Given the description of an element on the screen output the (x, y) to click on. 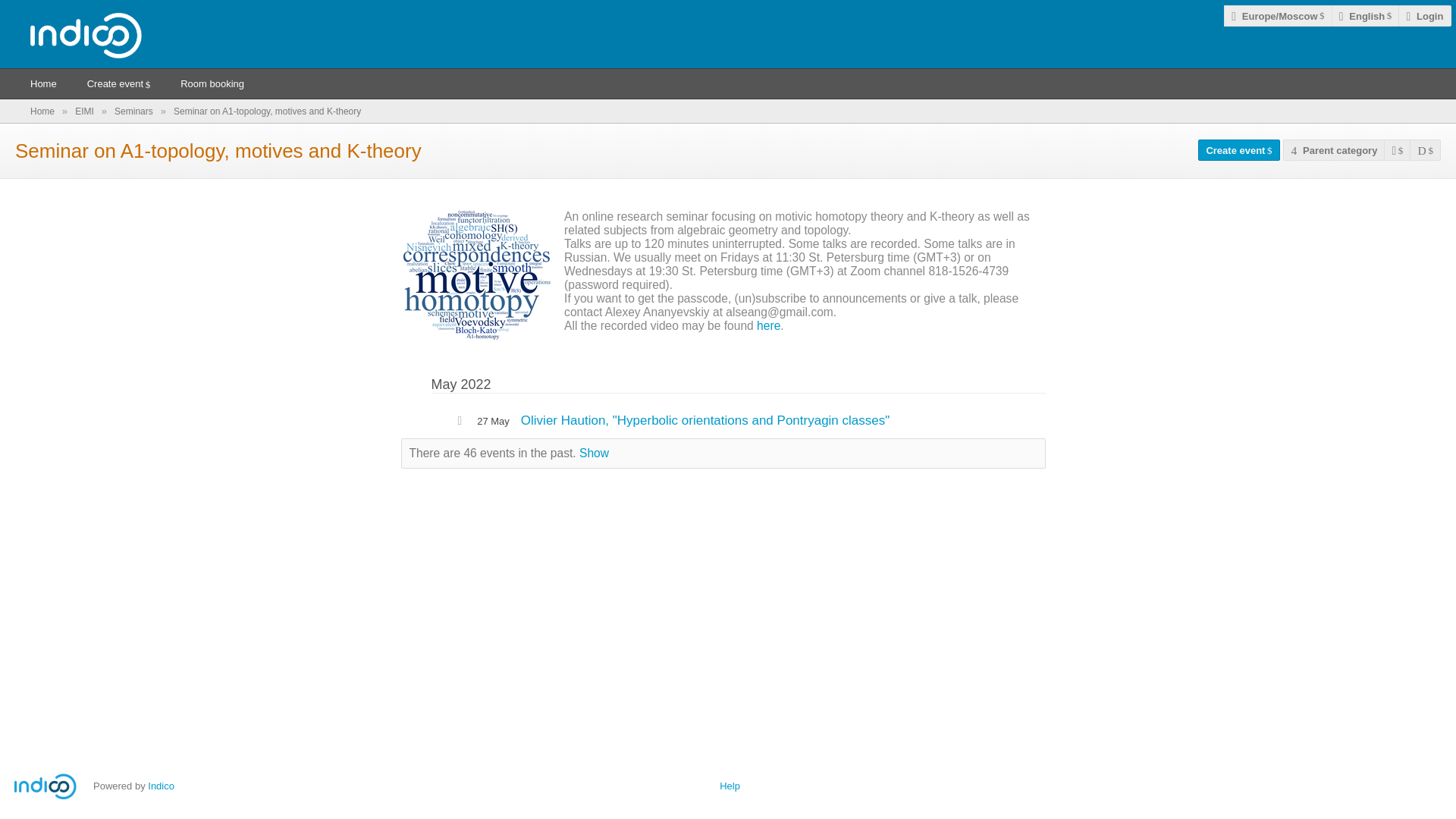
Seminars (135, 111)
View (1425, 150)
Room booking (212, 83)
Create event (1238, 150)
Seminar on A1-topology, motives and K-theory (267, 111)
Export to scheduling tool (1396, 150)
EIMI (85, 111)
Create event (118, 83)
here (768, 325)
